Given the description of an element on the screen output the (x, y) to click on. 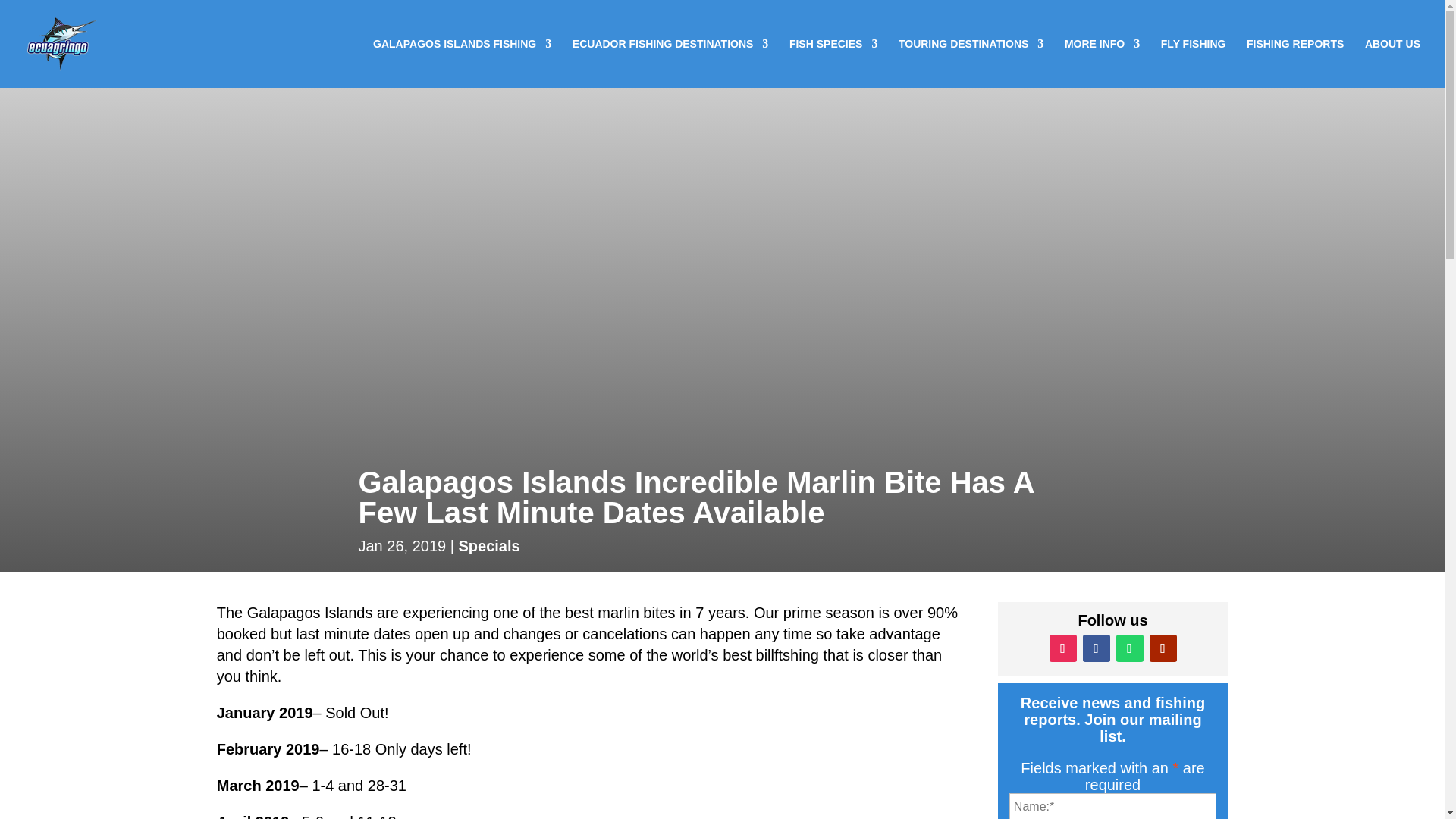
Follow on Instagram (1063, 647)
FLY FISHING (1192, 62)
FISH SPECIES (833, 62)
ABOUT US (1393, 62)
GALAPAGOS ISLANDS FISHING (461, 62)
TOURING DESTINATIONS (970, 62)
FISHING REPORTS (1294, 62)
Follow on Facebook (1096, 647)
Follow on Youtube (1163, 647)
Follow on WhatsApp (1129, 647)
